Given the description of an element on the screen output the (x, y) to click on. 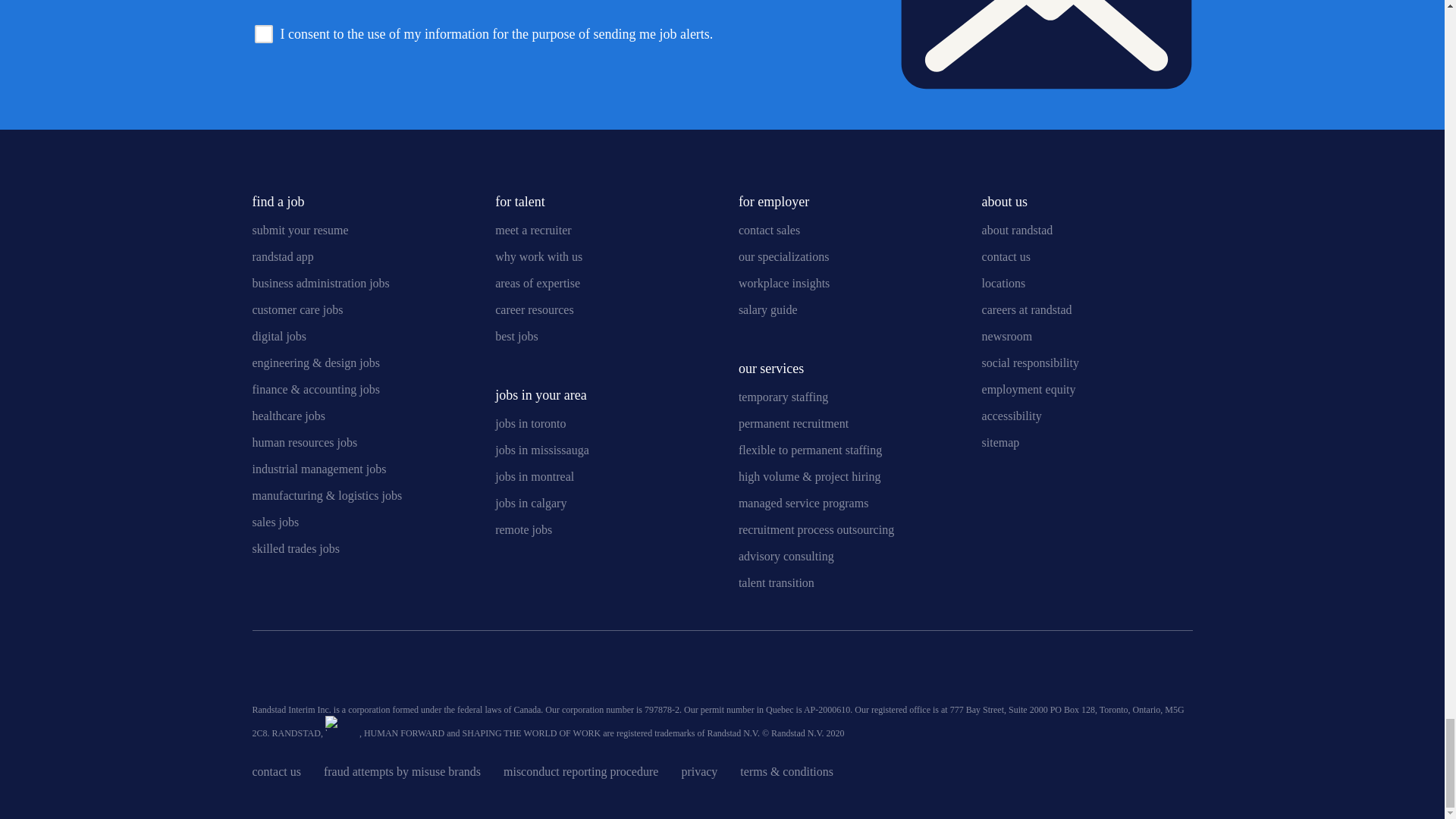
view our LinkedIn profile (263, 671)
view our Twitter page (301, 671)
view our Facebook page (338, 671)
